Given the description of an element on the screen output the (x, y) to click on. 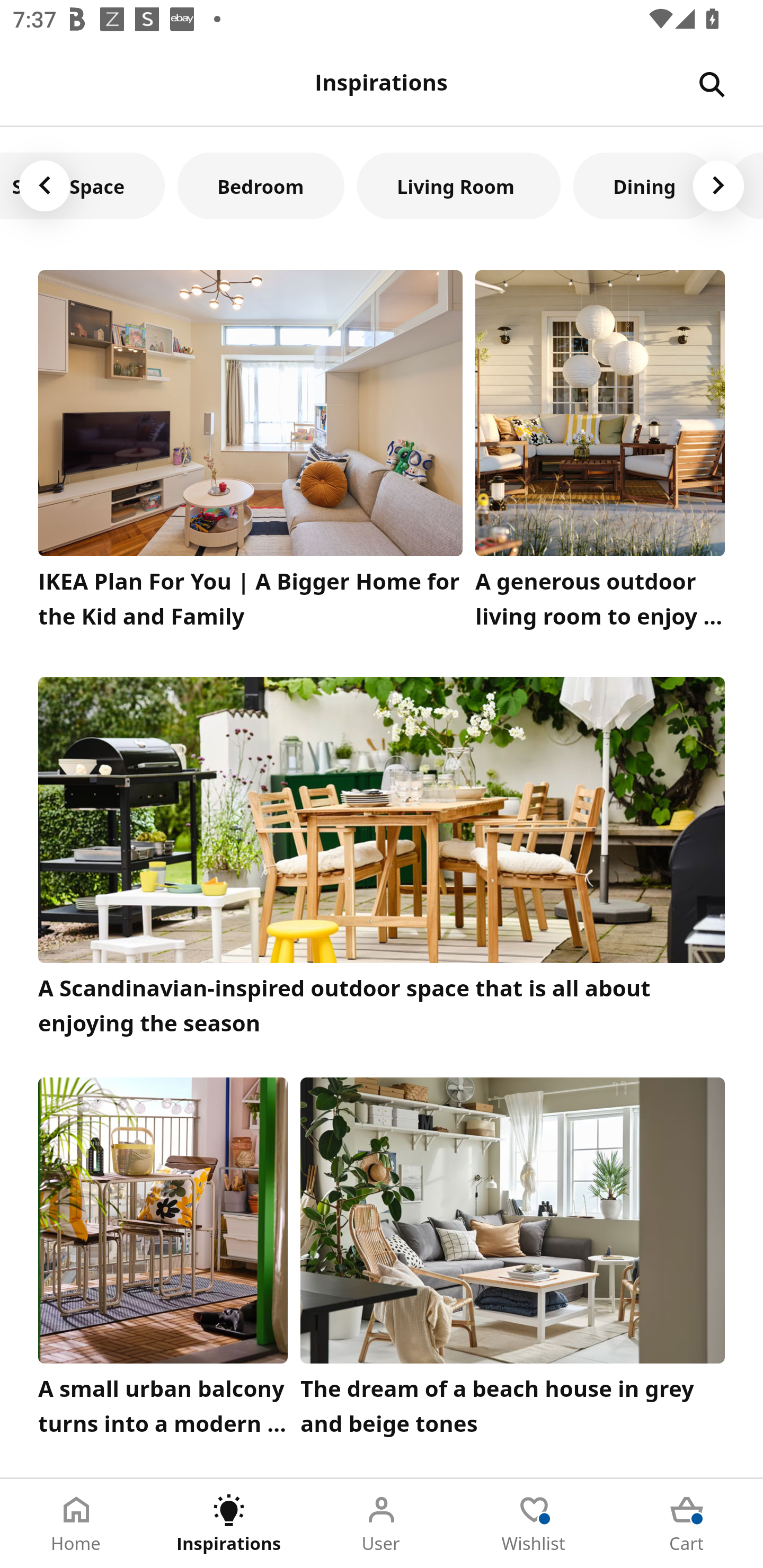
Bedroom (260, 185)
Living Room  (458, 185)
Dining (644, 185)
The dream of a beach house in grey and beige tones (512, 1261)
Home
Tab 1 of 5 (76, 1522)
Inspirations
Tab 2 of 5 (228, 1522)
User
Tab 3 of 5 (381, 1522)
Wishlist
Tab 4 of 5 (533, 1522)
Cart
Tab 5 of 5 (686, 1522)
